Given the description of an element on the screen output the (x, y) to click on. 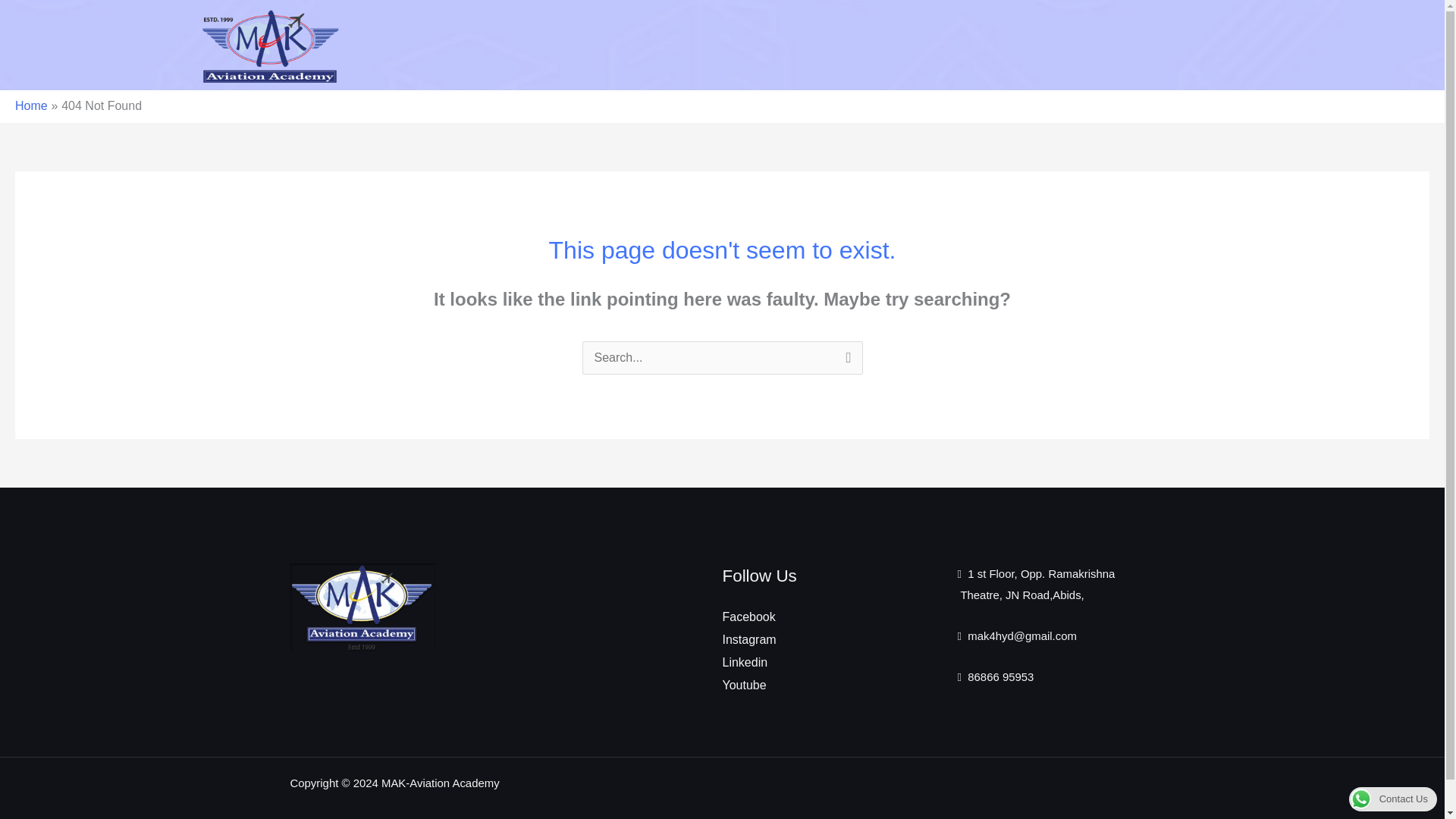
Facebook (748, 616)
Linkedin (744, 662)
Search (844, 360)
Home (31, 105)
Search (844, 360)
Contact Us (1393, 797)
Youtube (743, 684)
Search (844, 360)
Instagram (749, 639)
